Given the description of an element on the screen output the (x, y) to click on. 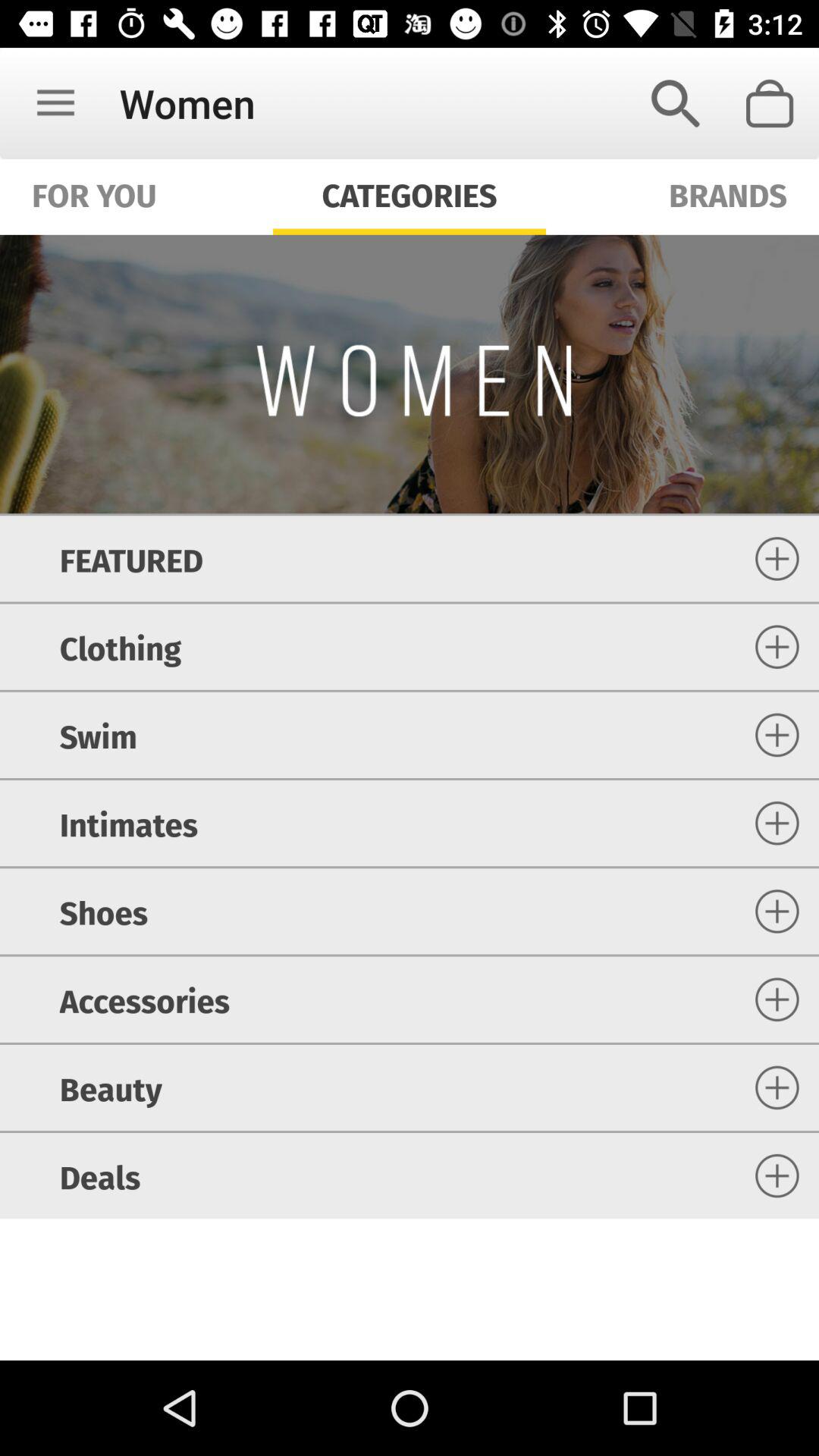
open the featured icon (131, 558)
